Given the description of an element on the screen output the (x, y) to click on. 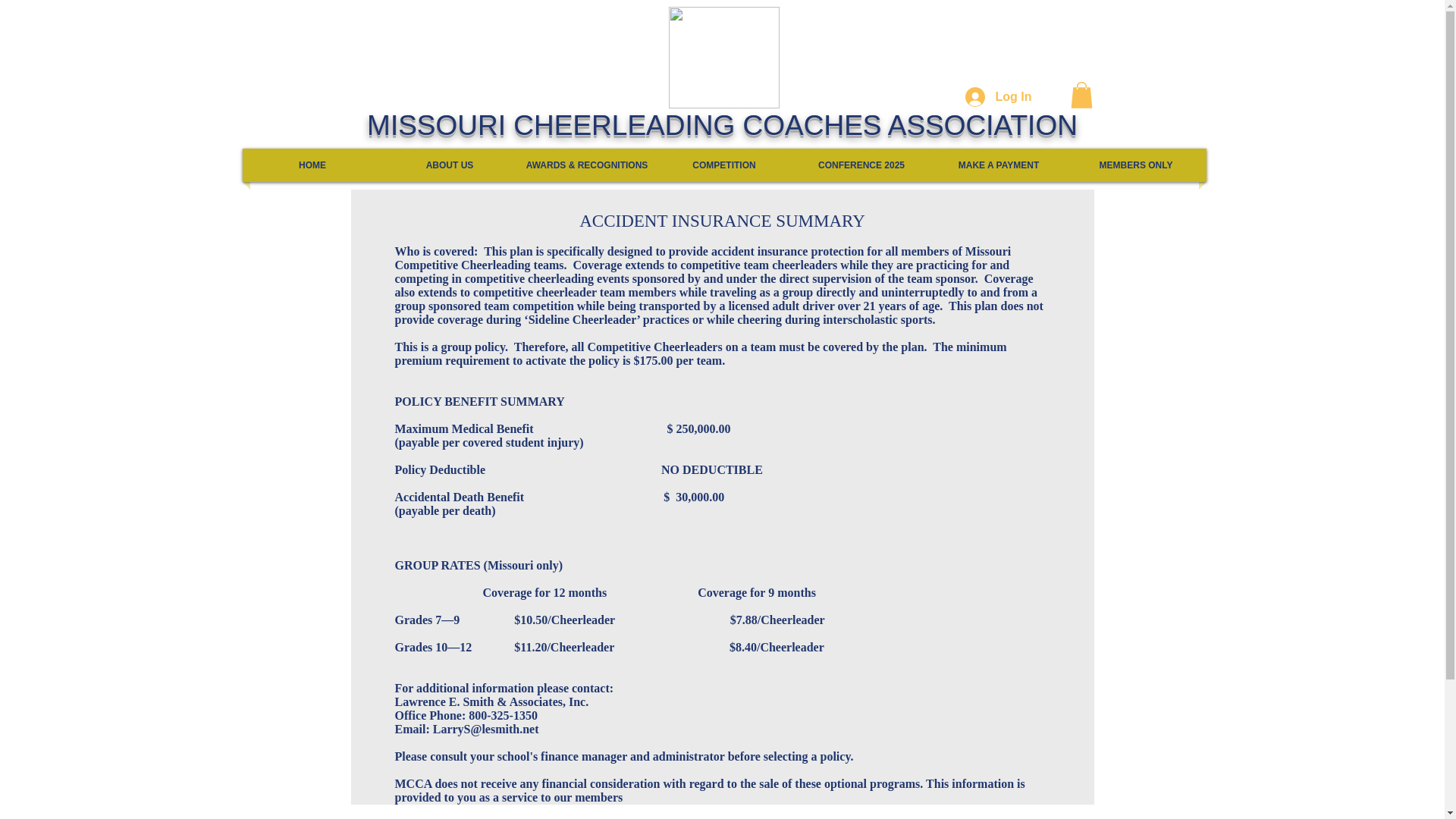
CONFERENCE 2025 (861, 164)
MEMBERS ONLY (1136, 164)
ABOUT US (449, 164)
HOME (312, 164)
MAKE A PAYMENT (998, 164)
MISSOURI CHEERLEADING COACHES ASSOCIATION (721, 124)
Log In (998, 96)
